Given the description of an element on the screen output the (x, y) to click on. 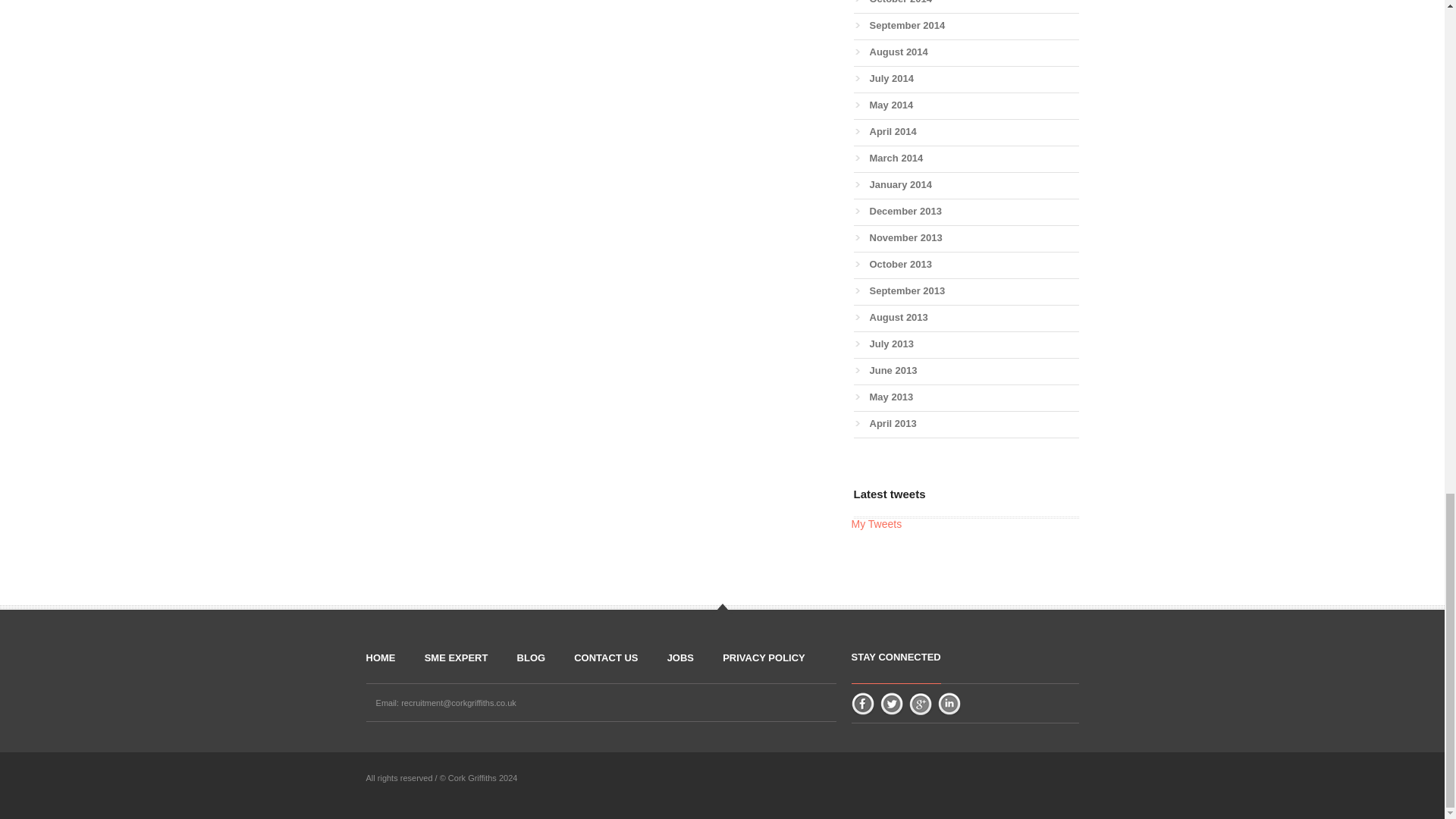
facebook (862, 703)
linkedin (948, 703)
twitter (890, 703)
google (919, 703)
